Given the description of an element on the screen output the (x, y) to click on. 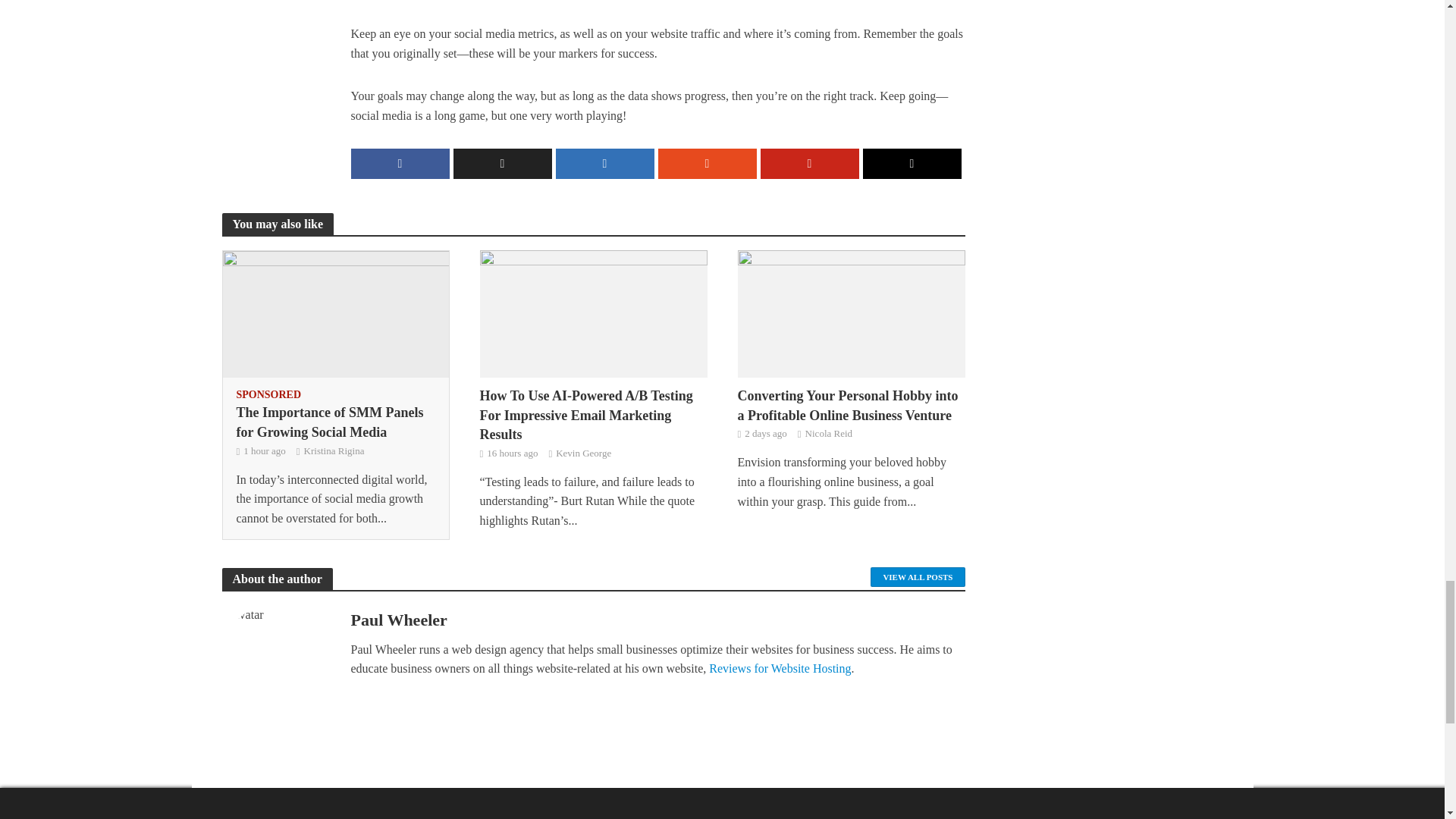
The Importance of SMM Panels for Growing Social Media (335, 312)
